Given the description of an element on the screen output the (x, y) to click on. 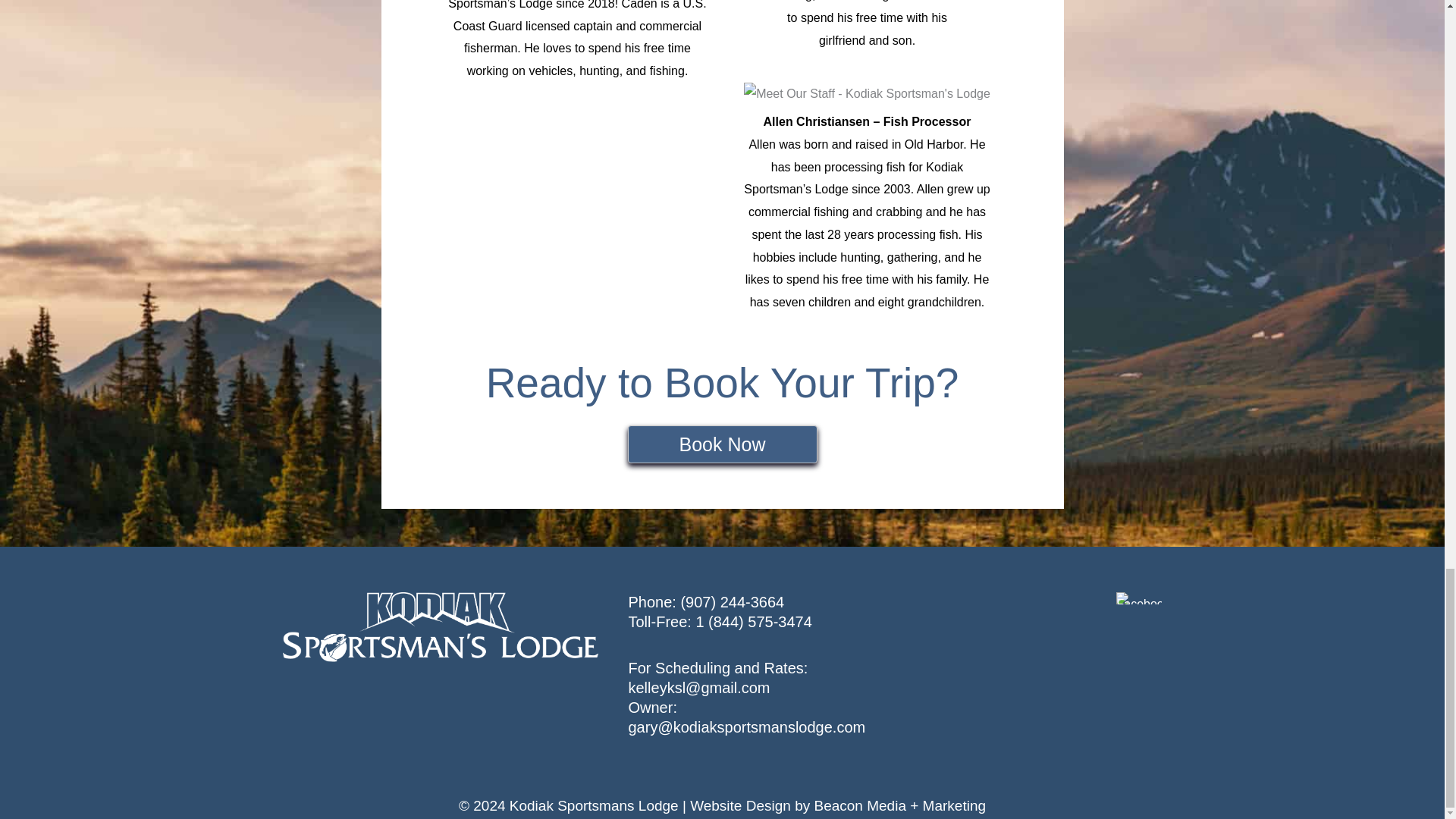
Book Now (721, 444)
Facebook Icon-1 (1138, 598)
Kodiak Sportsmans Lodge Logo white (439, 626)
